Given the description of an element on the screen output the (x, y) to click on. 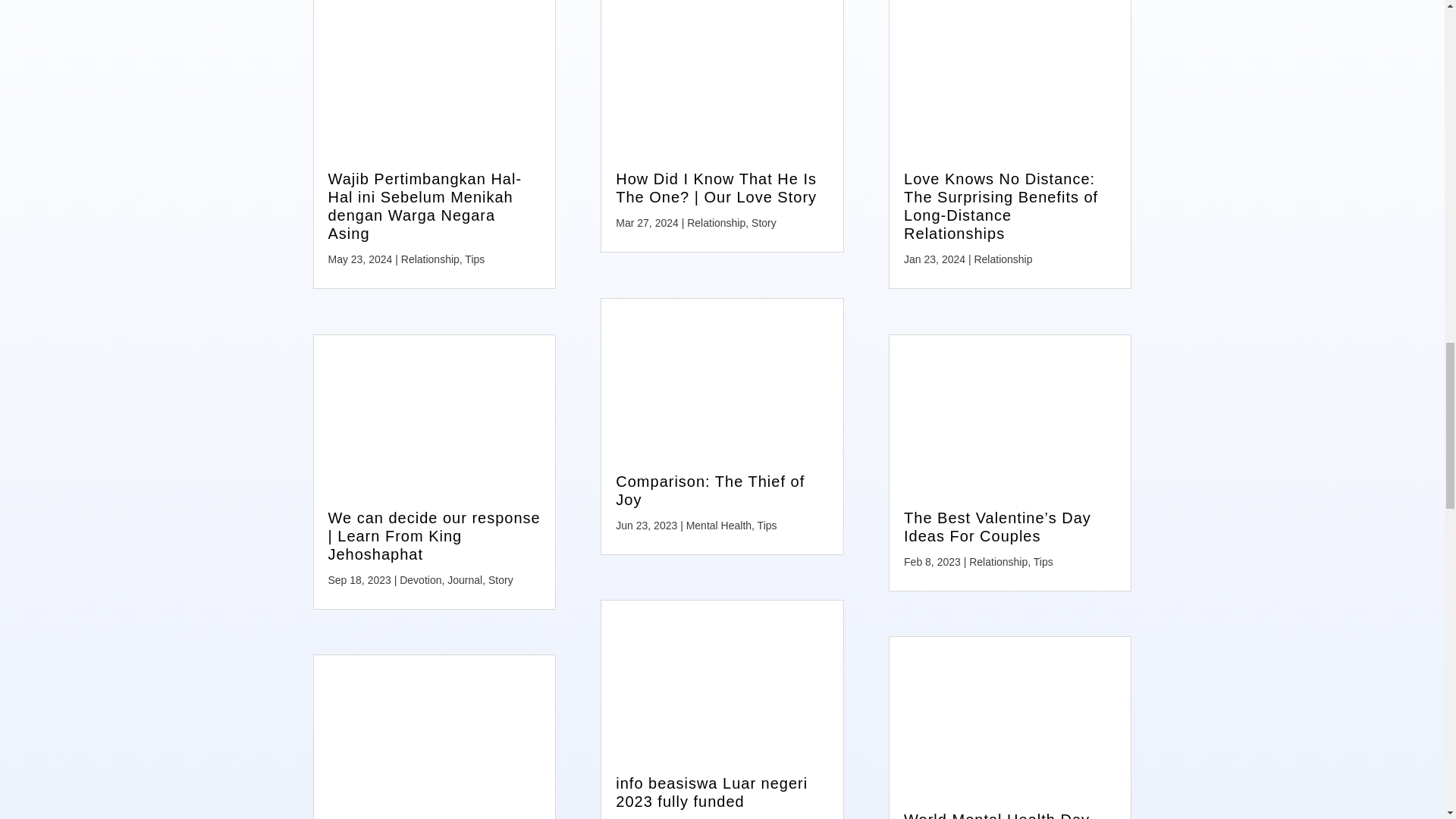
Tips (474, 259)
Journal (463, 580)
Relationship (716, 223)
Relationship (430, 259)
info beasiswa Luar negeri 2023 fully funded (711, 791)
Mental Health (718, 525)
Tips (767, 525)
Devotion (419, 580)
Comparison: The Thief of Joy (710, 490)
Relationship (1003, 259)
Story (763, 223)
Story (500, 580)
